Given the description of an element on the screen output the (x, y) to click on. 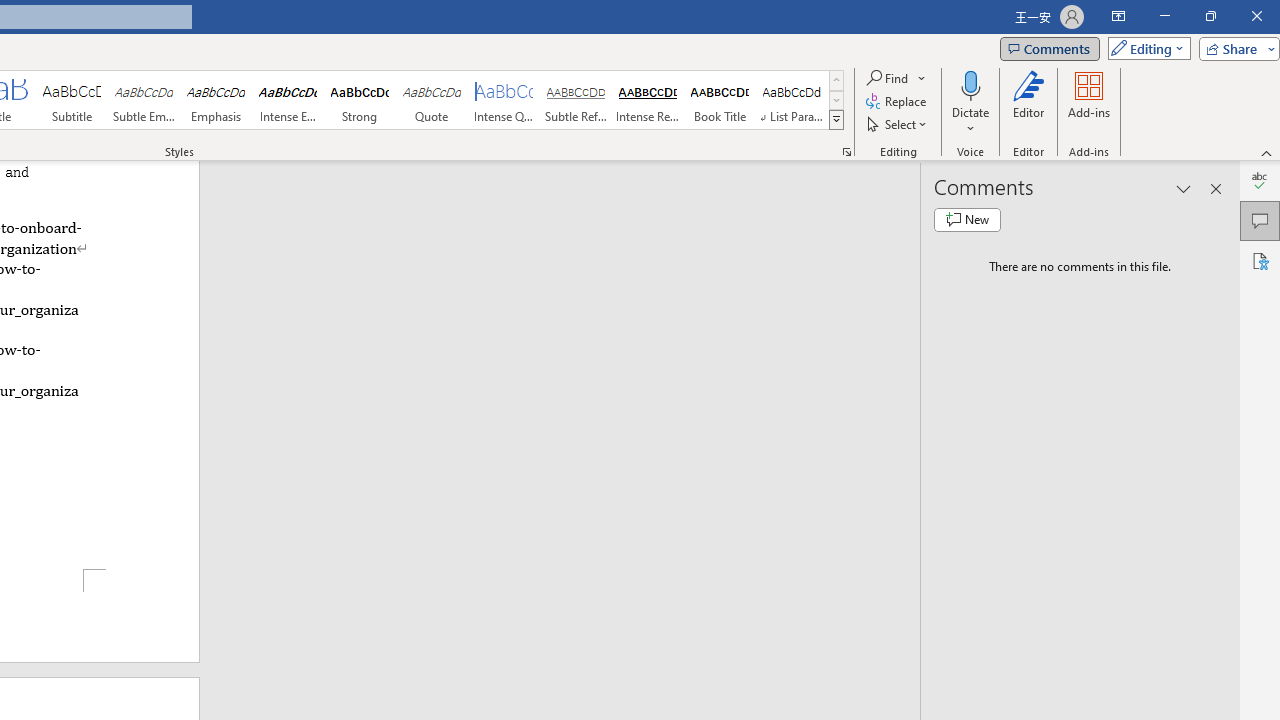
Emphasis (216, 100)
Strong (359, 100)
Row Down (836, 100)
Styles... (846, 151)
Subtle Emphasis (143, 100)
Editor (1260, 180)
Intense Quote (504, 100)
